Given the description of an element on the screen output the (x, y) to click on. 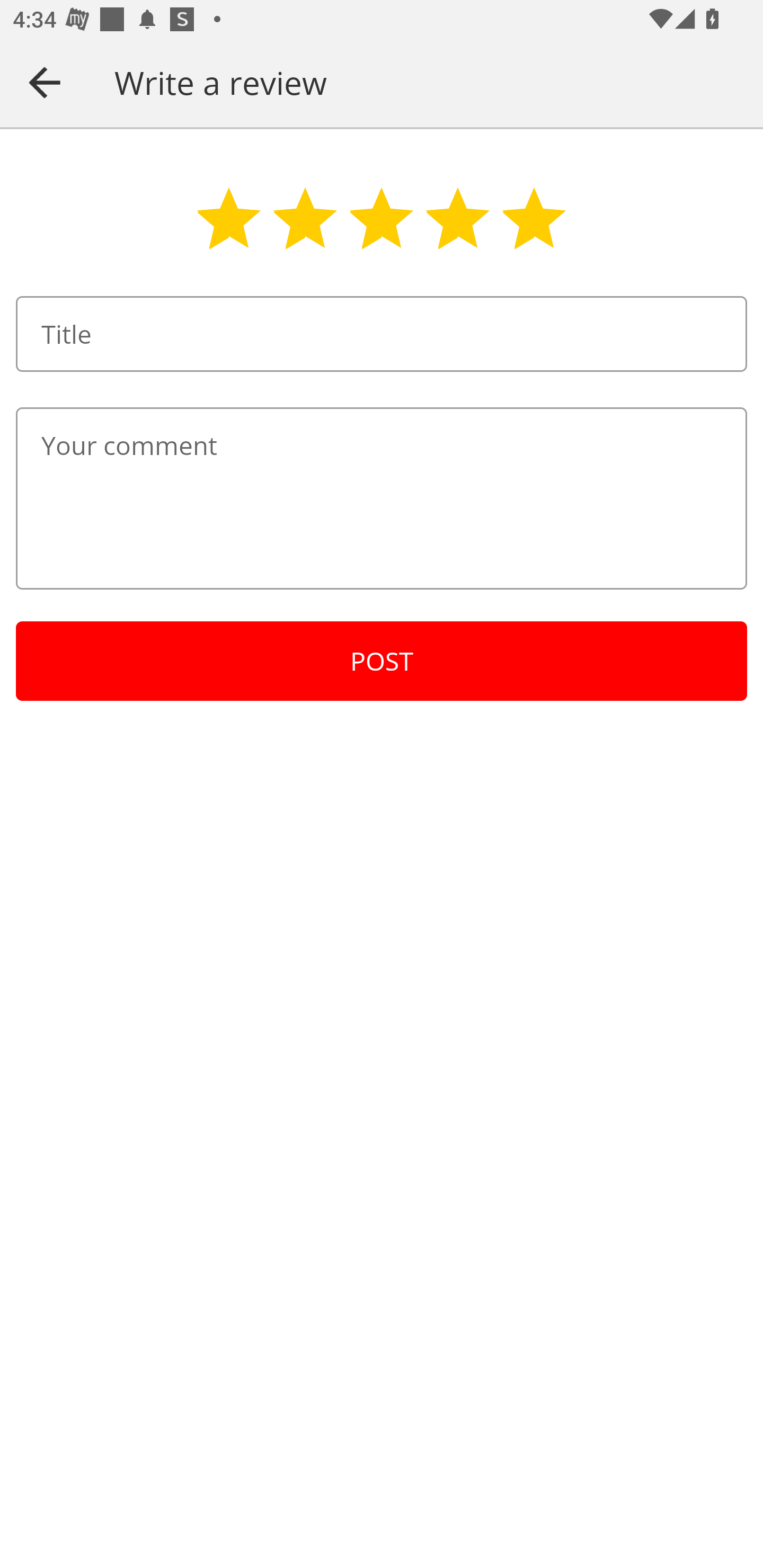
Navigate up (44, 82)
Title (381, 333)
Your comment (381, 498)
POST (381, 660)
